Given the description of an element on the screen output the (x, y) to click on. 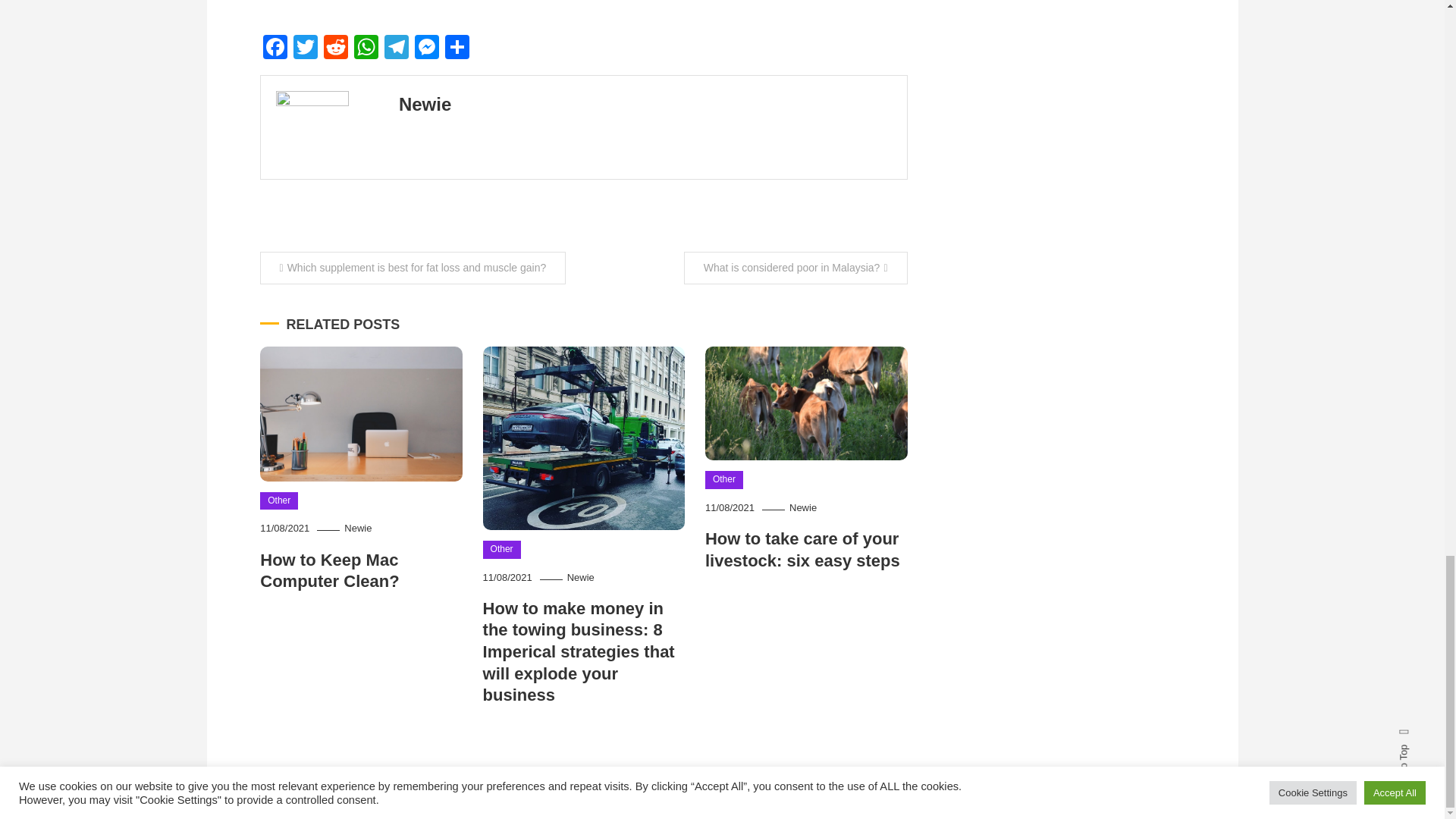
Other (502, 549)
Newie (802, 507)
Newie (580, 577)
Twitter (304, 49)
Twitter (304, 49)
Messenger (425, 49)
Reddit (335, 49)
How to take care of your livestock: six easy steps (801, 549)
Posts by Newie (424, 104)
Other (279, 501)
Facebook (274, 49)
Reddit (335, 49)
Which supplement is best for fat loss and muscle gain? (412, 267)
Messenger (425, 49)
